Given the description of an element on the screen output the (x, y) to click on. 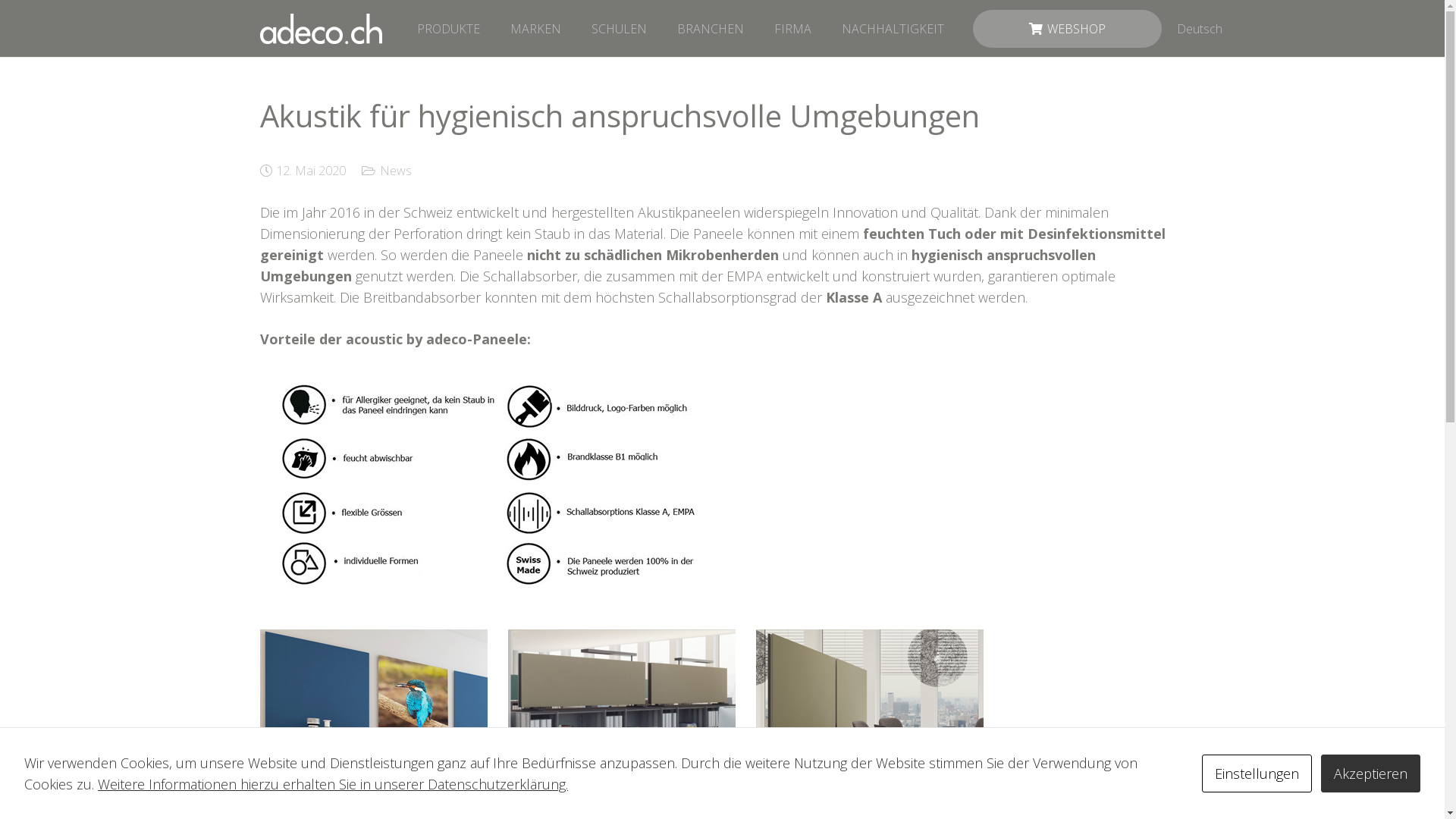
News Element type: text (395, 170)
FIRMA Element type: text (792, 28)
BRANCHEN Element type: text (710, 28)
MARKEN Element type: text (535, 28)
Akzeptieren Element type: text (1370, 773)
NACHHALTIGKEIT Element type: text (892, 28)
SCHULEN Element type: text (619, 28)
WEBSHOP Element type: text (1067, 28)
Einstellungen Element type: text (1256, 773)
PRODUKTE Element type: text (448, 28)
Deutsch Element type: text (1199, 28)
